Given the description of an element on the screen output the (x, y) to click on. 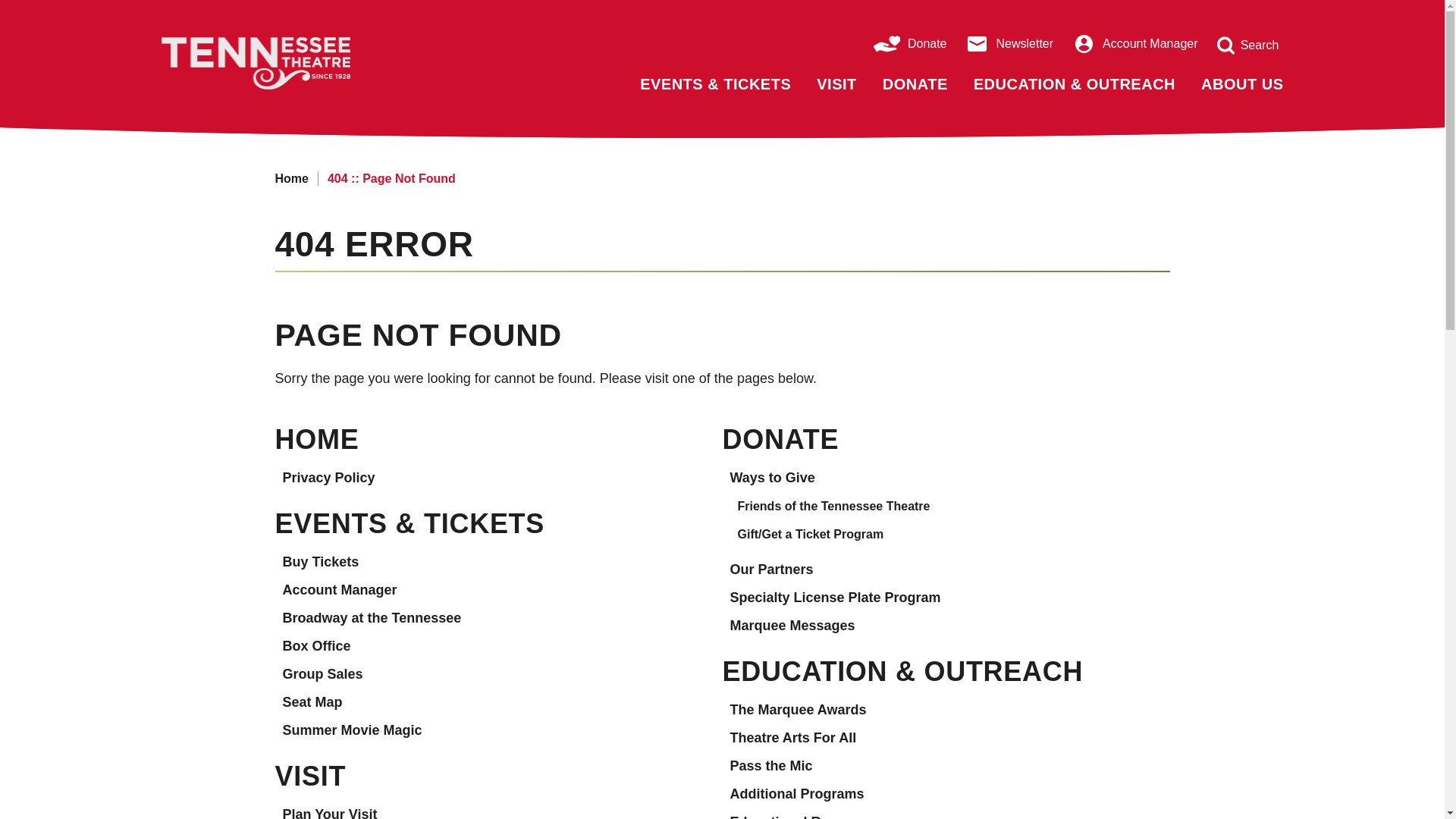
Donate (910, 43)
Account Manager (1133, 43)
DONATE (914, 84)
Account Manager (1133, 43)
Newsletter (1010, 43)
VISIT (836, 84)
Tennessee Theatre (297, 62)
Newsletter (1010, 43)
Tennessee Theatre (297, 62)
Donate (910, 43)
Search (1248, 45)
